Given the description of an element on the screen output the (x, y) to click on. 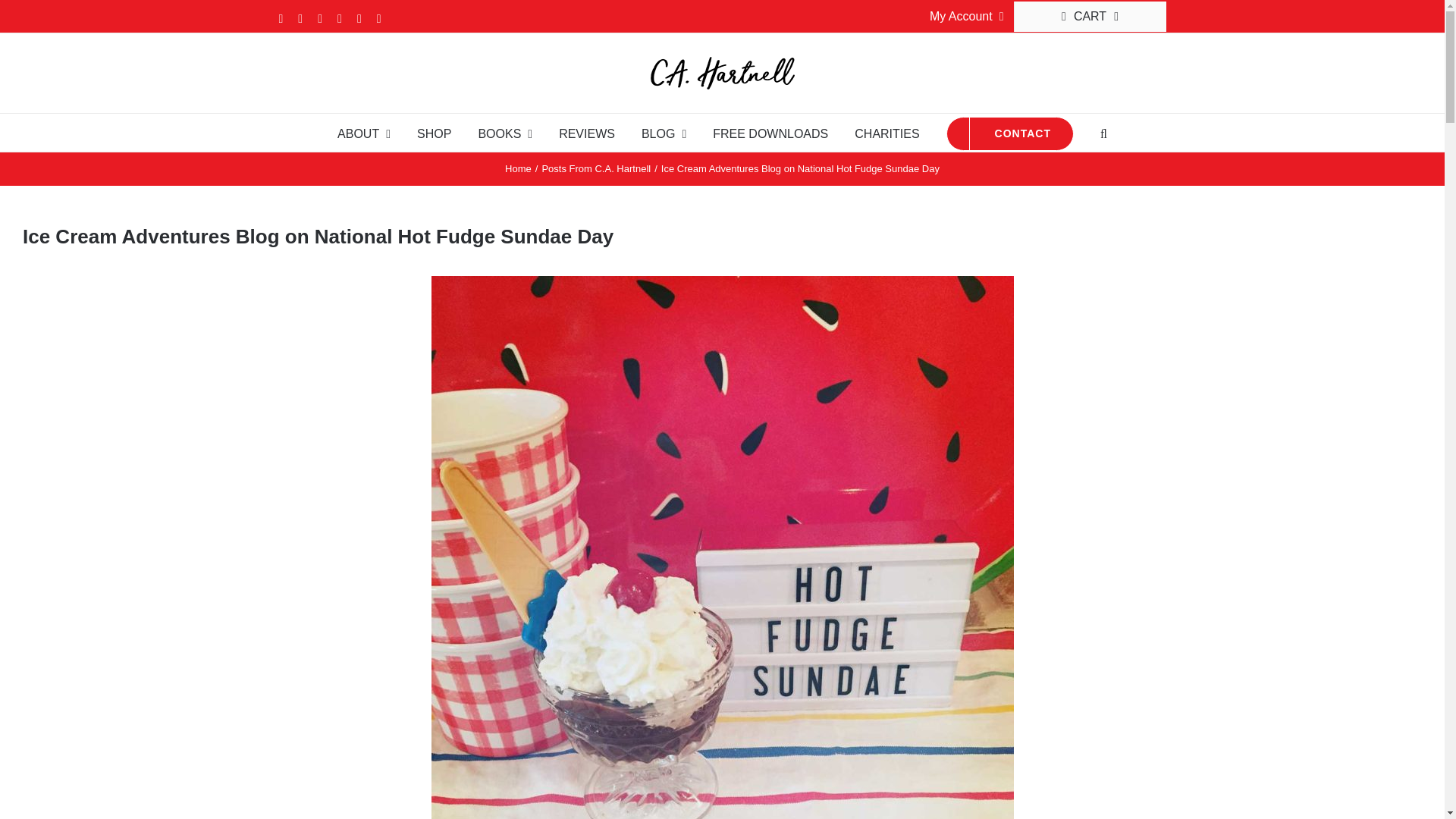
CHARITIES (886, 132)
BLOG (663, 132)
BOOKS (504, 132)
CART (1090, 16)
CONTACT (1010, 132)
Log In (1021, 156)
FREE DOWNLOADS (770, 132)
SHOP (433, 132)
ABOUT (363, 132)
My Account (966, 16)
REVIEWS (586, 132)
